Given the description of an element on the screen output the (x, y) to click on. 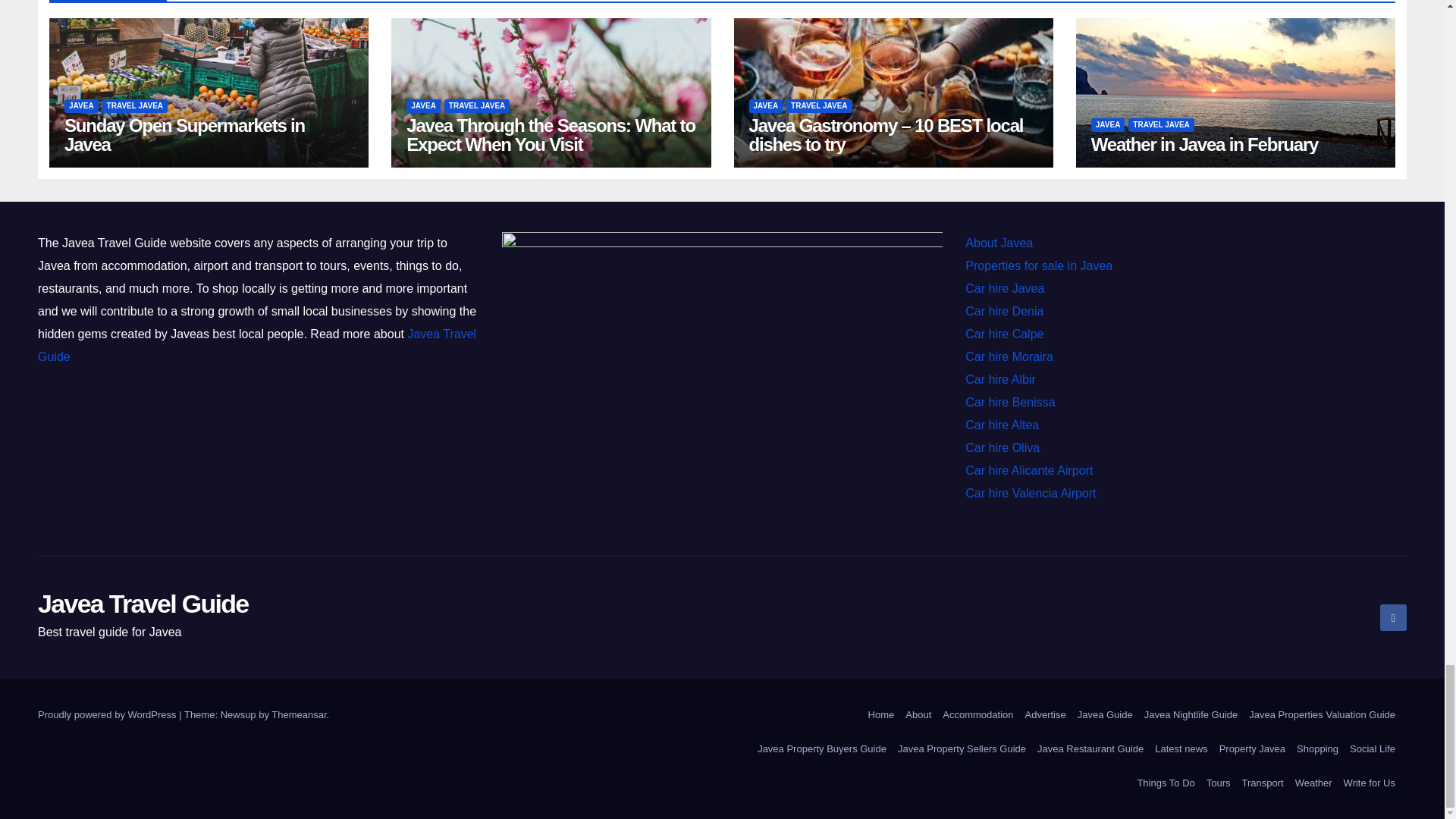
Permalink to: Sunday Open Supermarkets in Javea (184, 134)
Permalink to: Weather in Javea in February (1203, 144)
